Given the description of an element on the screen output the (x, y) to click on. 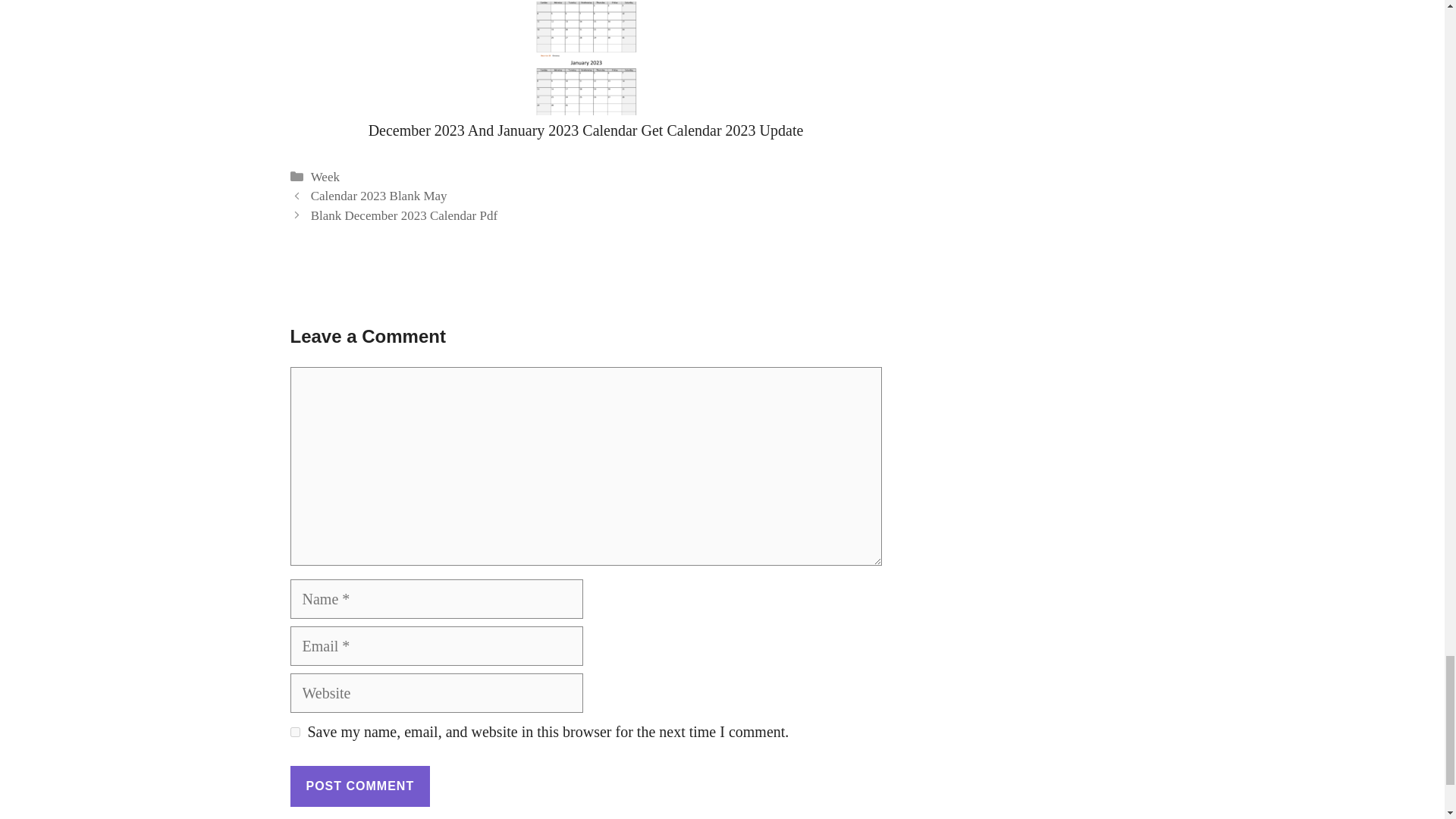
Blank December 2023 Calendar Pdf (404, 215)
Calendar 2023 Blank May (378, 196)
yes (294, 732)
Post Comment (359, 785)
Post Comment (359, 785)
Week (325, 176)
